Given the description of an element on the screen output the (x, y) to click on. 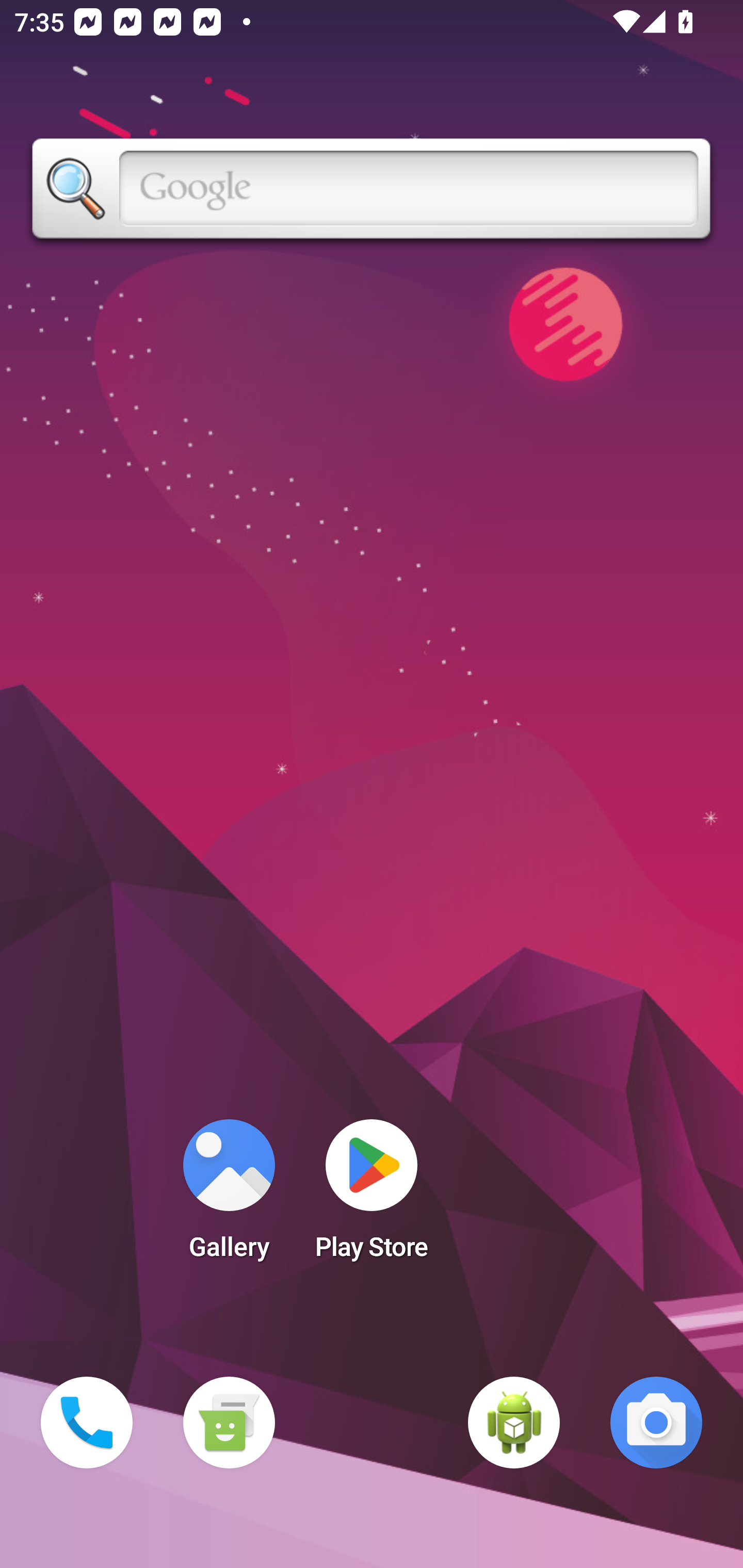
Gallery (228, 1195)
Play Store (371, 1195)
Phone (86, 1422)
Messaging (228, 1422)
WebView Browser Tester (513, 1422)
Camera (656, 1422)
